Given the description of an element on the screen output the (x, y) to click on. 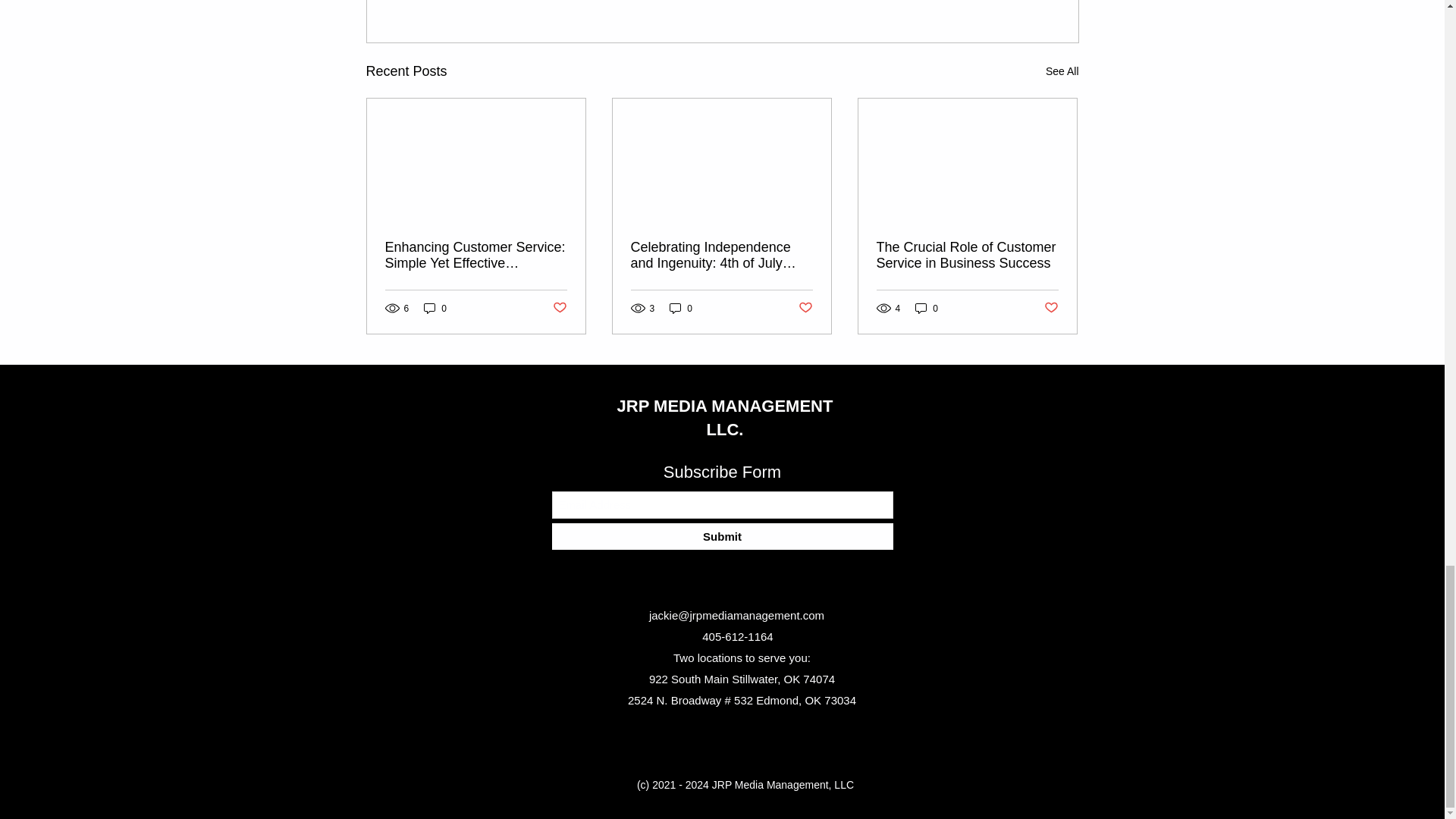
0 (435, 308)
Post not marked as liked (804, 308)
See All (1061, 71)
Post not marked as liked (558, 308)
0 (681, 308)
